Given the description of an element on the screen output the (x, y) to click on. 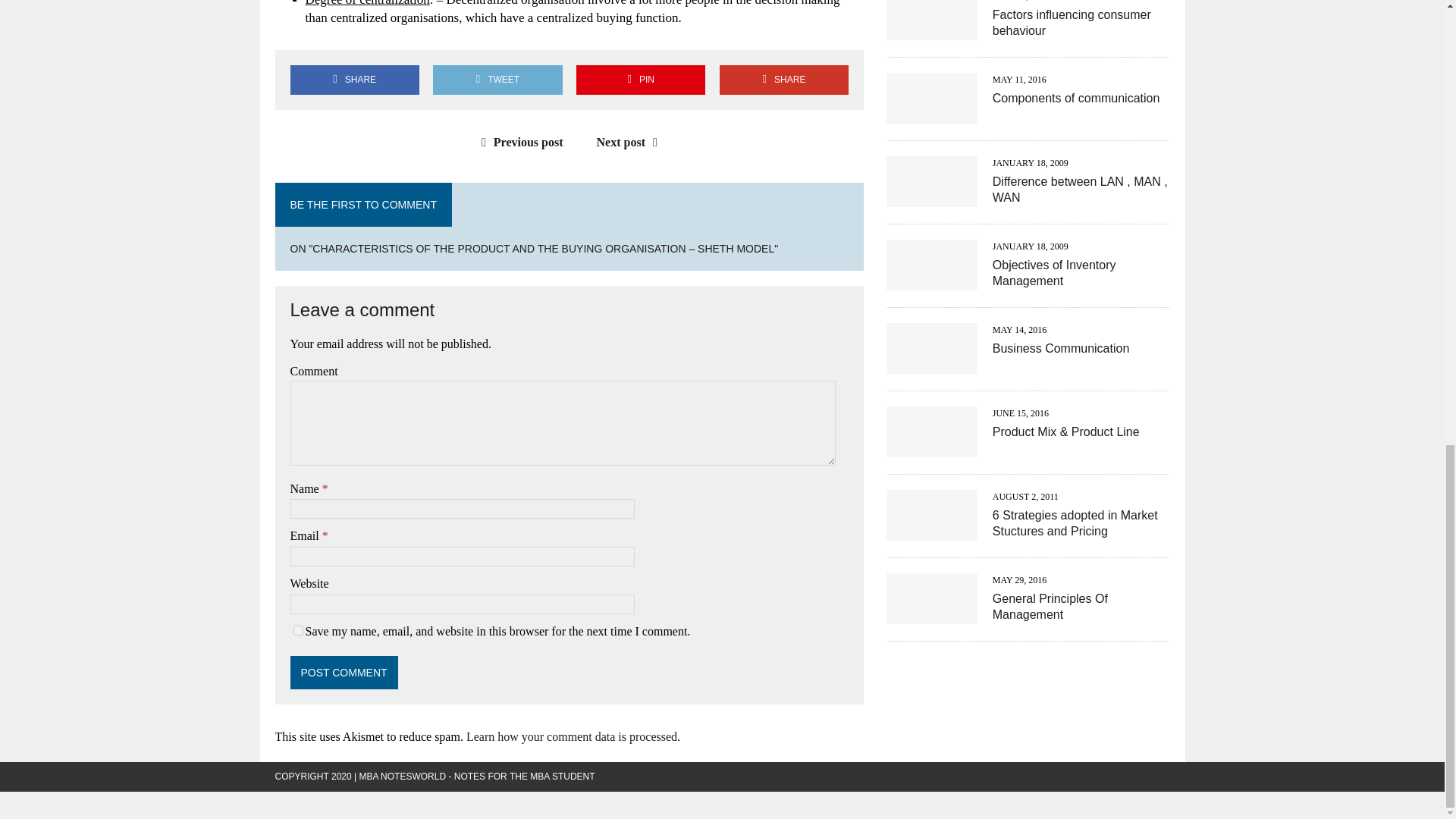
Share on Facebook (354, 80)
SHARE (783, 80)
Pin This Post (640, 80)
Previous post (518, 141)
PIN (640, 80)
SHARE (354, 80)
TWEET (497, 80)
Next post (630, 141)
Post Comment (343, 672)
Tweet This Post (497, 80)
